Given the description of an element on the screen output the (x, y) to click on. 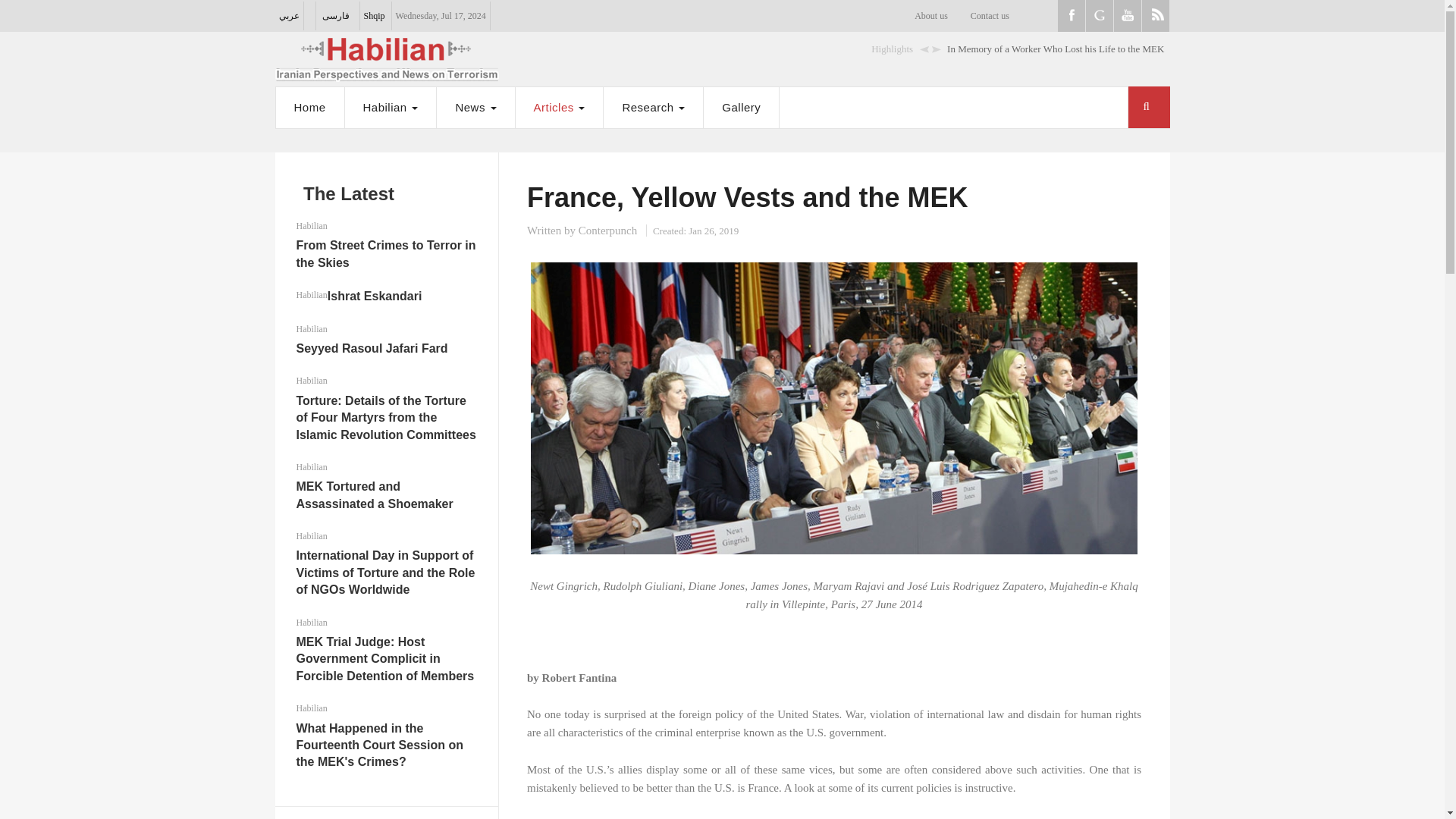
Contact us (989, 15)
MEK Tortured and Assassinated a Shoemaker (373, 494)
Shqip (374, 15)
Ishrat Eskandari (374, 295)
About us (930, 15)
Seyyed Rasoul Jafari Fard (370, 348)
From Street Crimes to Terror in the Skies (385, 253)
